Given the description of an element on the screen output the (x, y) to click on. 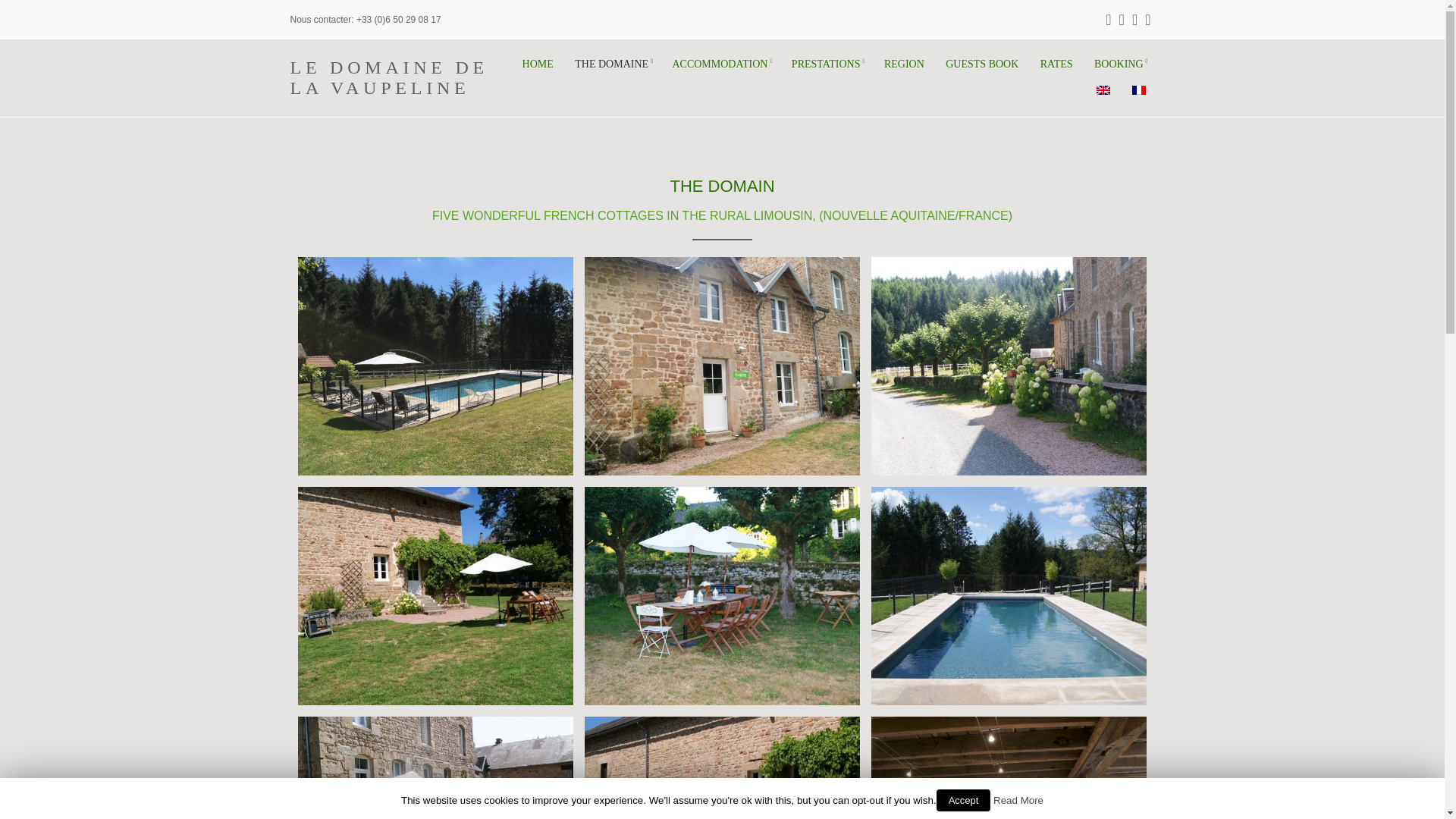
English (1102, 90)
